Given the description of an element on the screen output the (x, y) to click on. 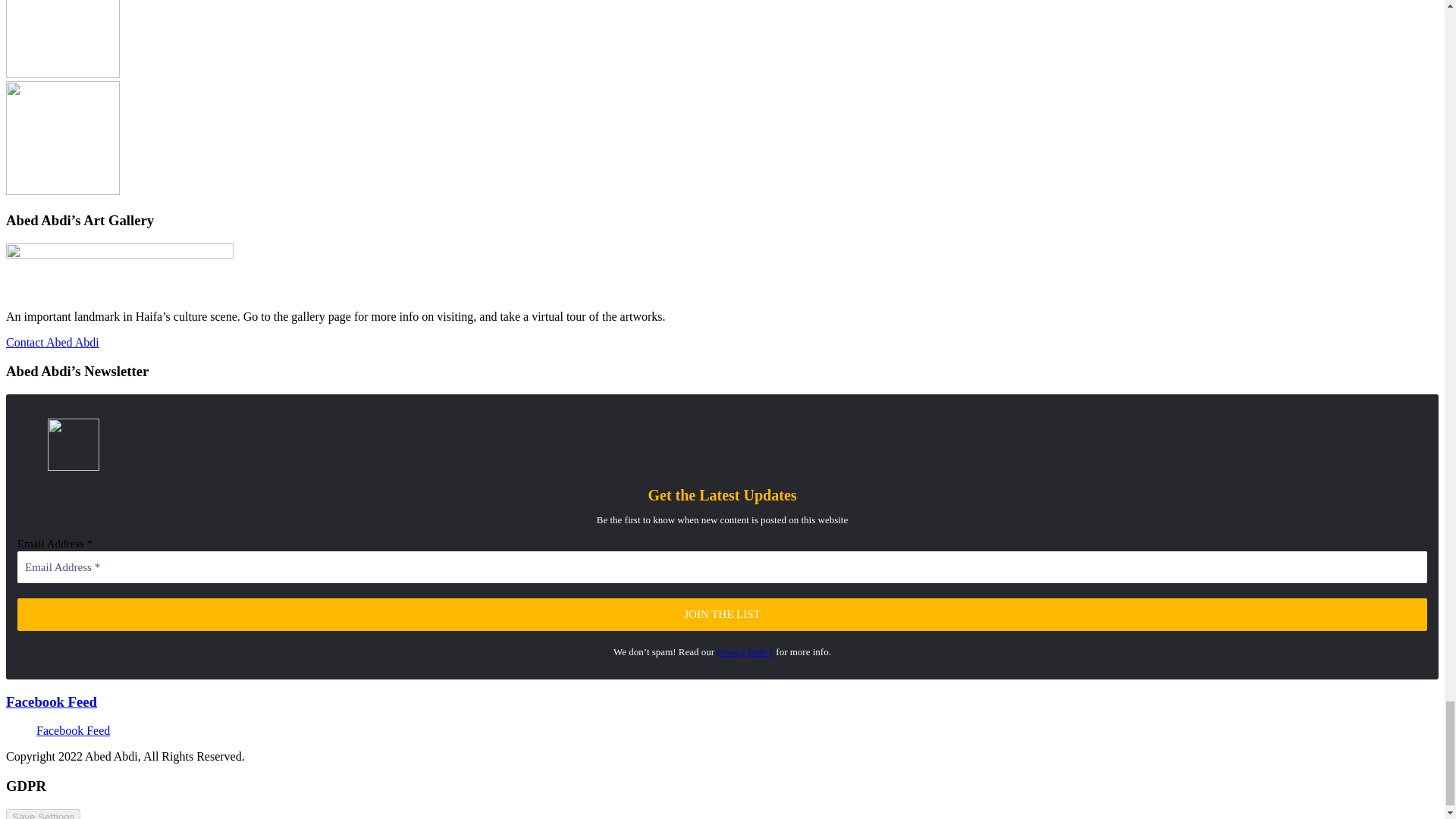
JOIN THE LIST (721, 614)
